Given the description of an element on the screen output the (x, y) to click on. 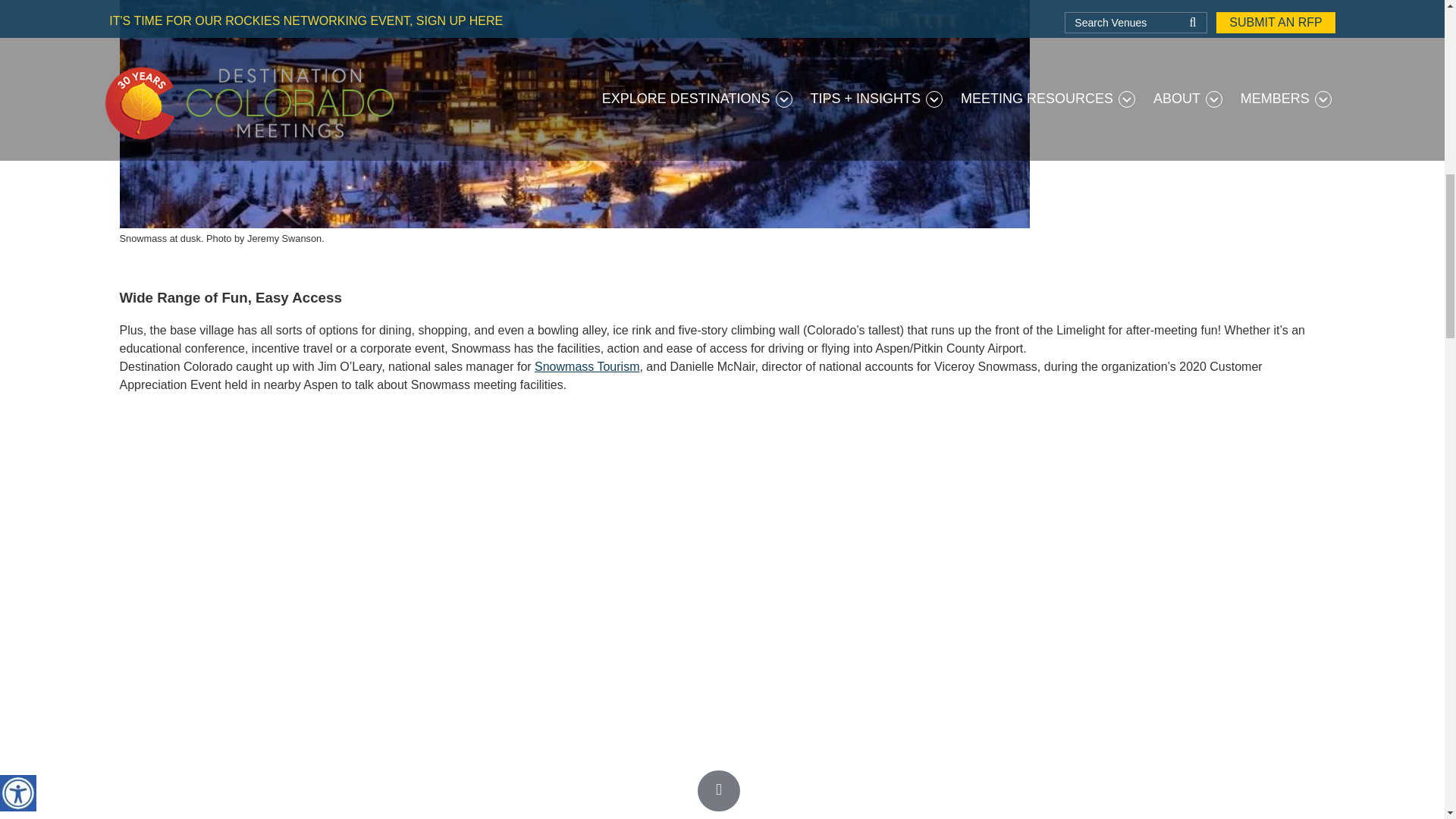
Snowmass Tourism (586, 366)
